Given the description of an element on the screen output the (x, y) to click on. 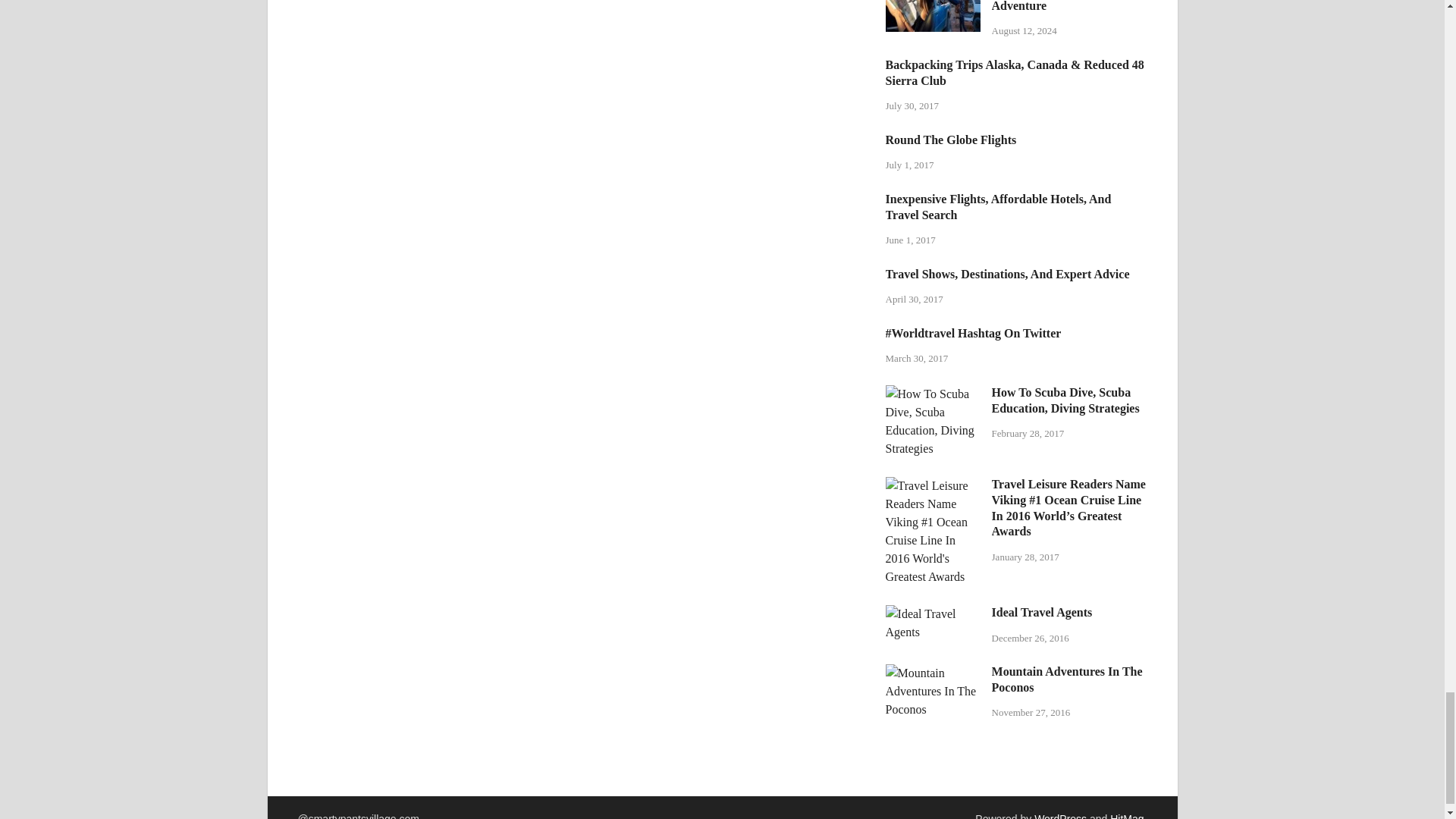
Ideal Travel Agents (932, 613)
Mountain Adventures In The Poconos (932, 672)
How To Scuba Dive, Scuba Education, Diving Strategies (932, 393)
